Given the description of an element on the screen output the (x, y) to click on. 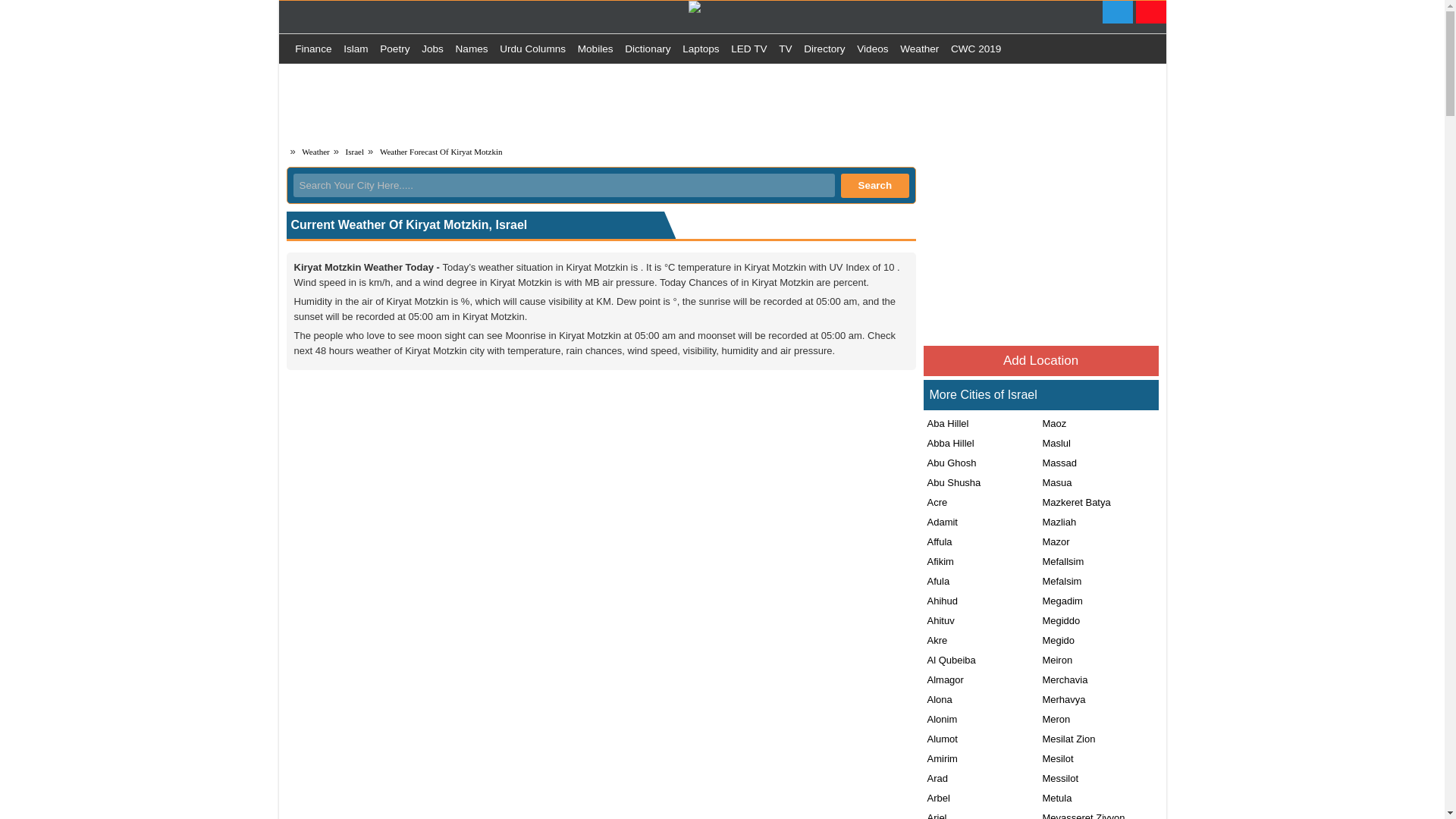
Weather (919, 49)
Laptops (700, 49)
Search (874, 185)
Abu Ghosh (949, 462)
Mobiles (595, 49)
Affula (937, 541)
Jobs (432, 49)
CWC 2019 (976, 49)
Abba Hillel (948, 443)
Acre (935, 502)
